Given the description of an element on the screen output the (x, y) to click on. 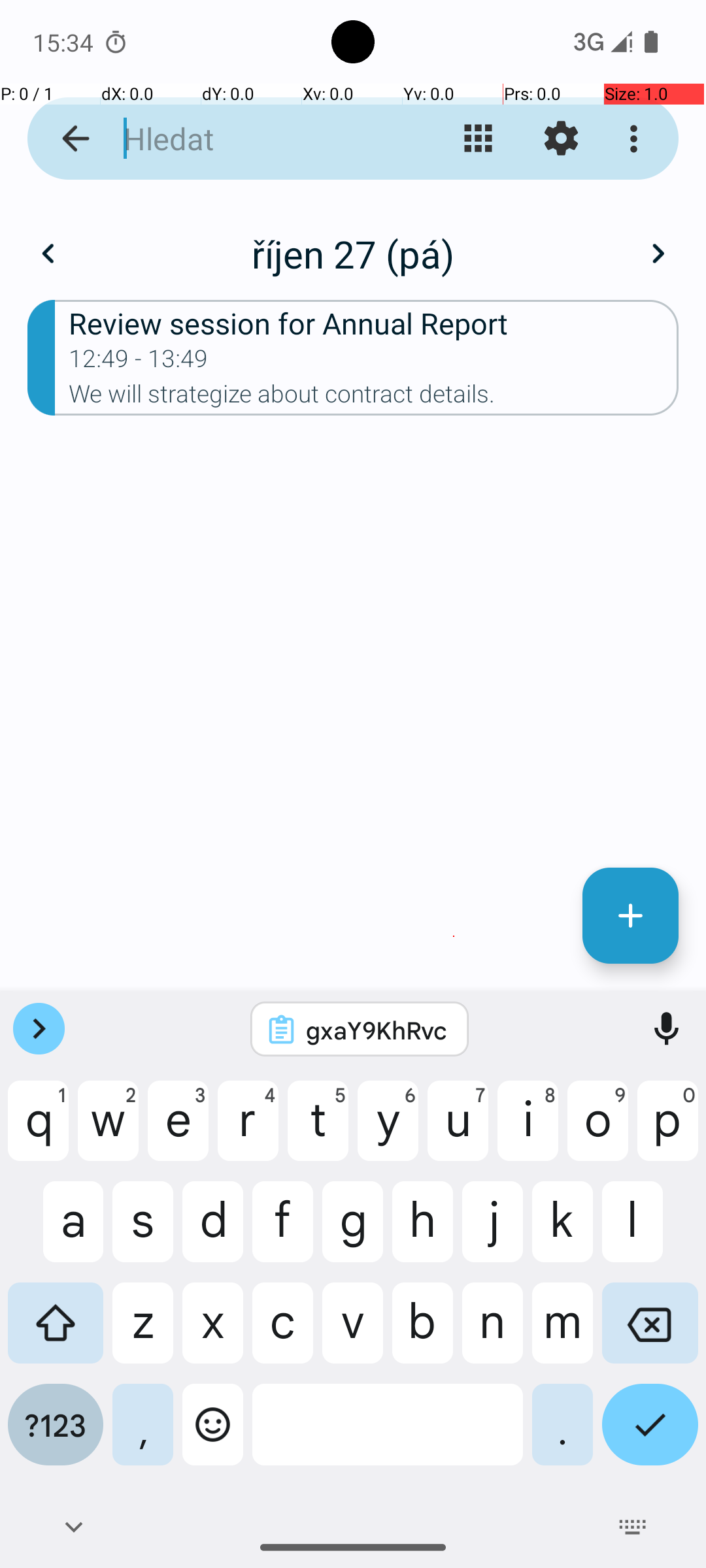
říjen 27 (pá) Element type: android.widget.TextView (352, 253)
12:49 - 13:49 Element type: android.widget.TextView (137, 362)
We will strategize about contract details. Element type: android.widget.TextView (373, 397)
gxaY9KhRvc Element type: android.widget.TextView (376, 1029)
